Given the description of an element on the screen output the (x, y) to click on. 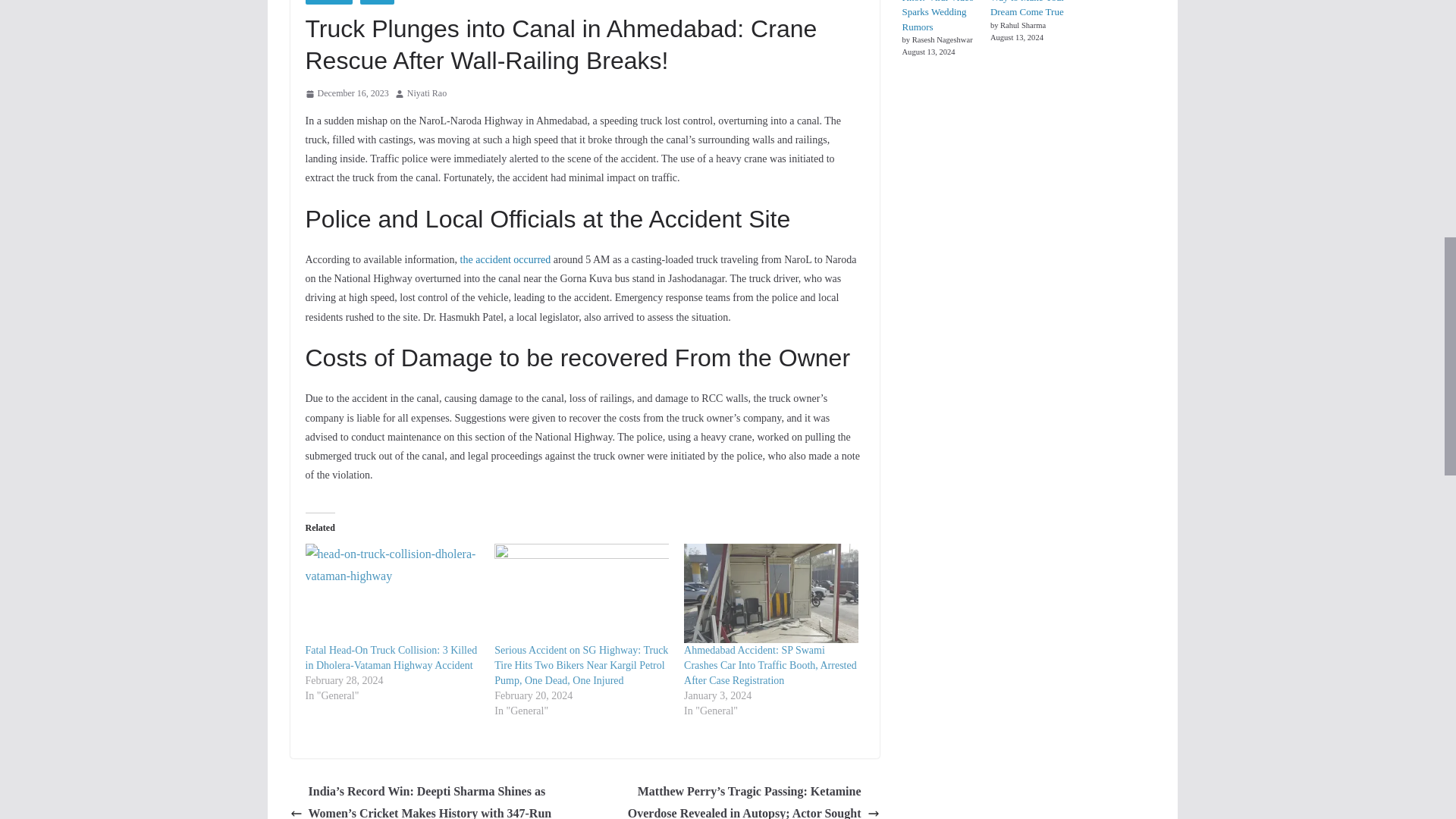
3:33 pm (346, 93)
Niyati Rao (426, 93)
